Given the description of an element on the screen output the (x, y) to click on. 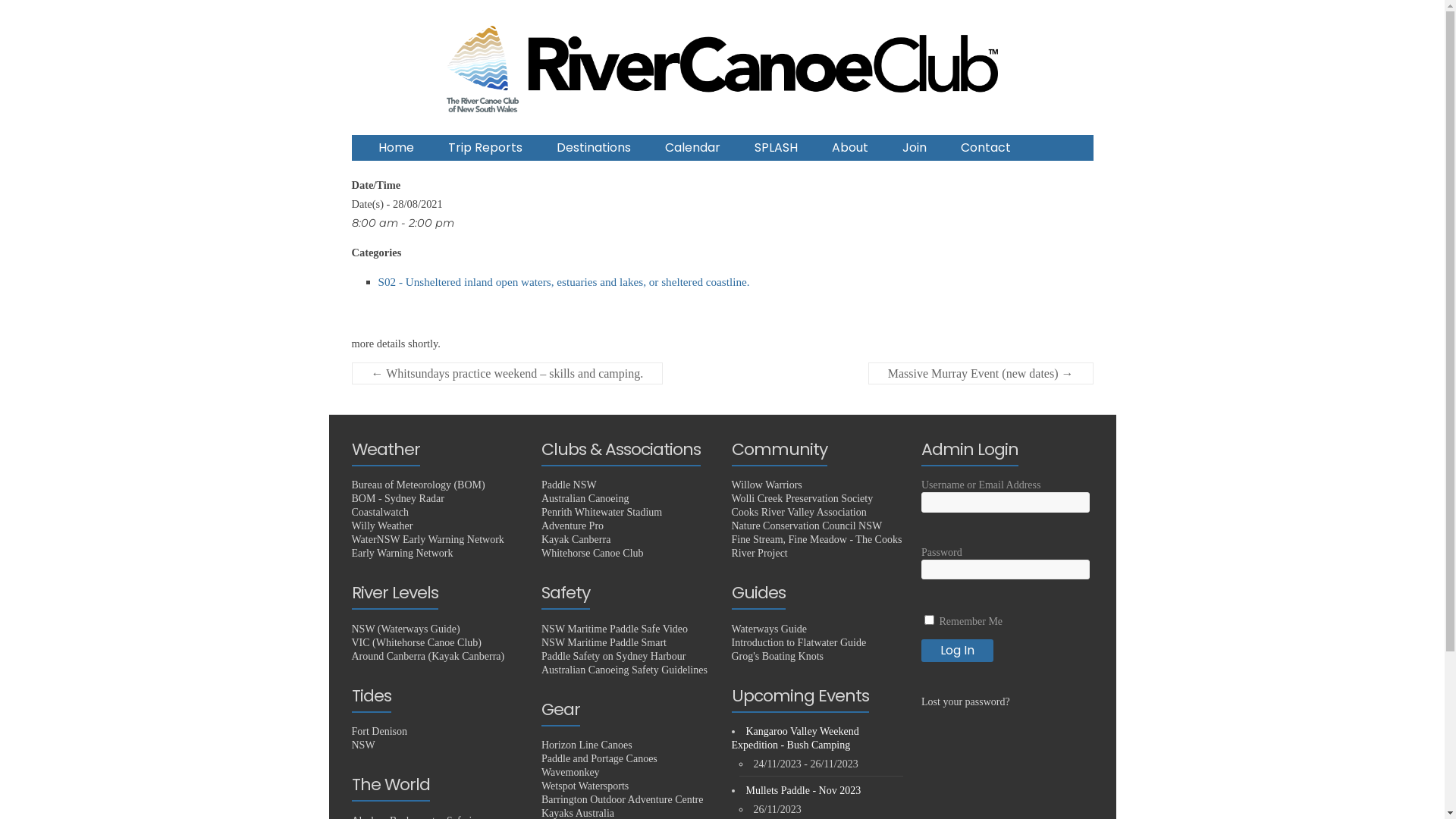
BOM - Sydney Radar Element type: text (398, 498)
Wolli Creek Preservation Society Element type: text (801, 498)
NSW Element type: text (363, 744)
Introduction to Flatwater Guide Element type: text (798, 642)
Early Warning Network Element type: text (402, 552)
Wetspot Watersports Element type: text (584, 785)
Calendar Element type: text (691, 147)
Destinations Element type: text (593, 147)
Mullets Paddle - Nov 2023 Element type: text (803, 790)
NSW Maritime Paddle Safe Video Element type: text (614, 628)
Trip Reports Element type: text (484, 147)
Australian Canoeing Safety Guidelines Element type: text (624, 669)
Paddle and Portage Canoes Element type: text (599, 758)
SPLASH Element type: text (775, 147)
Coastalwatch Element type: text (379, 511)
Waterways Guide Element type: text (768, 628)
NSW Maritime Paddle Smart Element type: text (603, 642)
NSW (Waterways Guide) Element type: text (405, 628)
WaterNSW Early Warning Network Element type: text (427, 539)
Join Element type: text (914, 147)
Fort Denison Element type: text (379, 731)
Home Element type: text (395, 147)
Around Canberra (Kayak Canberra) Element type: text (428, 656)
Lost your password? Element type: text (965, 701)
About Element type: text (849, 147)
Penrith Whitewater Stadium Element type: text (601, 511)
River Canoe Club Element type: text (394, 172)
Kayak Canberra Element type: text (575, 539)
Cooks River Valley Association Element type: text (798, 511)
Barrington Outdoor Adventure Centre Element type: text (621, 799)
Adventure Pro Element type: text (572, 525)
Wavemonkey Element type: text (570, 772)
Horizon Line Canoes Element type: text (586, 744)
Nature Conservation Council NSW Element type: text (806, 525)
Skip to content Element type: text (327, 21)
Willy Weather Element type: text (382, 525)
Fine Stream, Fine Meadow - The Cooks River Project Element type: text (816, 545)
Paddle Safety on Sydney Harbour Element type: text (613, 656)
Willow Warriors Element type: text (766, 484)
VIC (Whitehorse Canoe Club) Element type: text (416, 642)
Whitehorse Canoe Club Element type: text (592, 552)
Australian Canoeing Element type: text (584, 498)
Bureau of Meteorology (BOM) Element type: text (418, 484)
Log In Element type: text (957, 650)
Contact Element type: text (984, 147)
Paddle NSW Element type: text (568, 484)
Grog's Boating Knots Element type: text (777, 656)
Kangaroo Valley Weekend Expedition - Bush Camping Element type: text (794, 737)
